Given the description of an element on the screen output the (x, y) to click on. 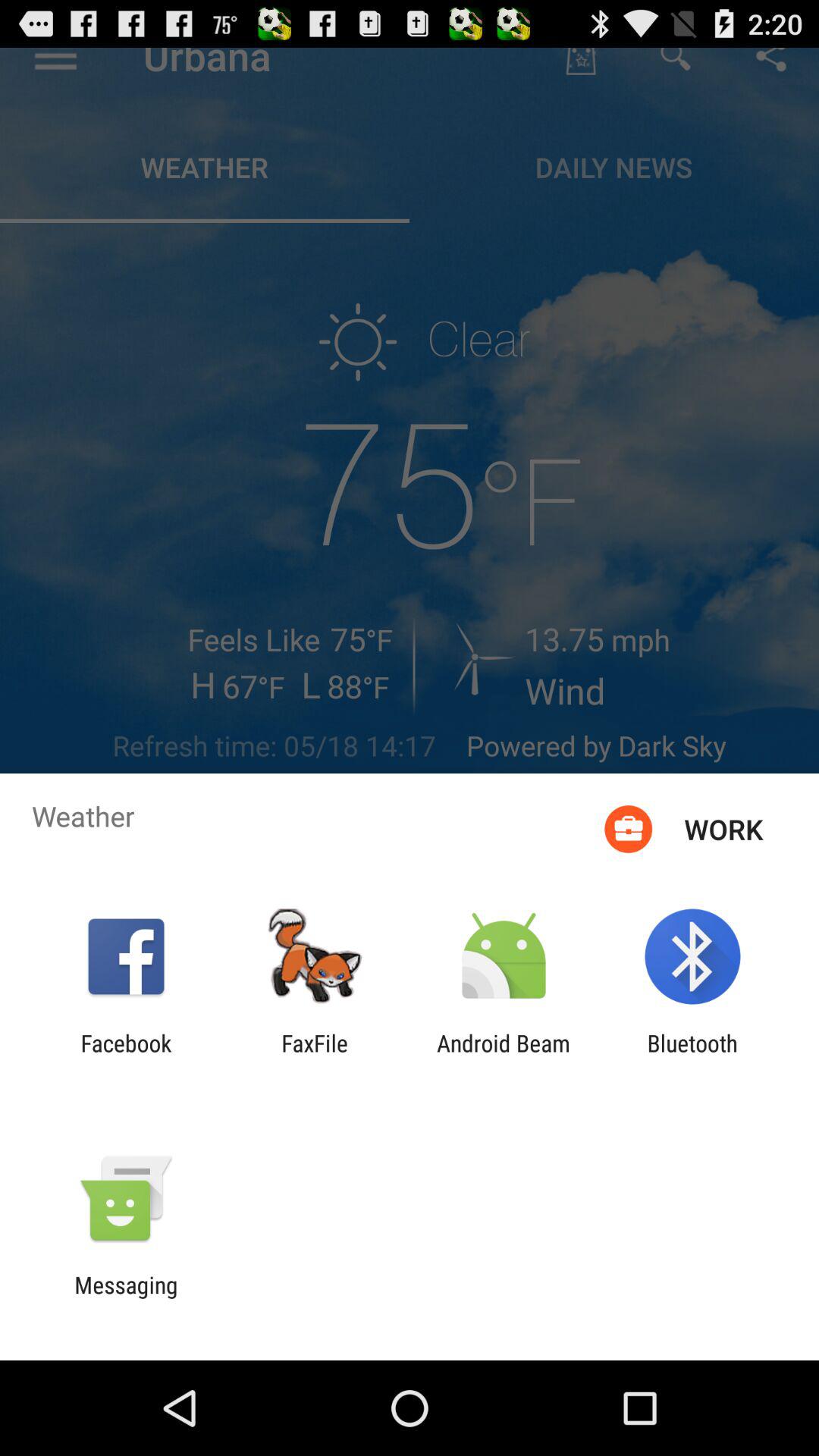
launch faxfile app (314, 1056)
